Given the description of an element on the screen output the (x, y) to click on. 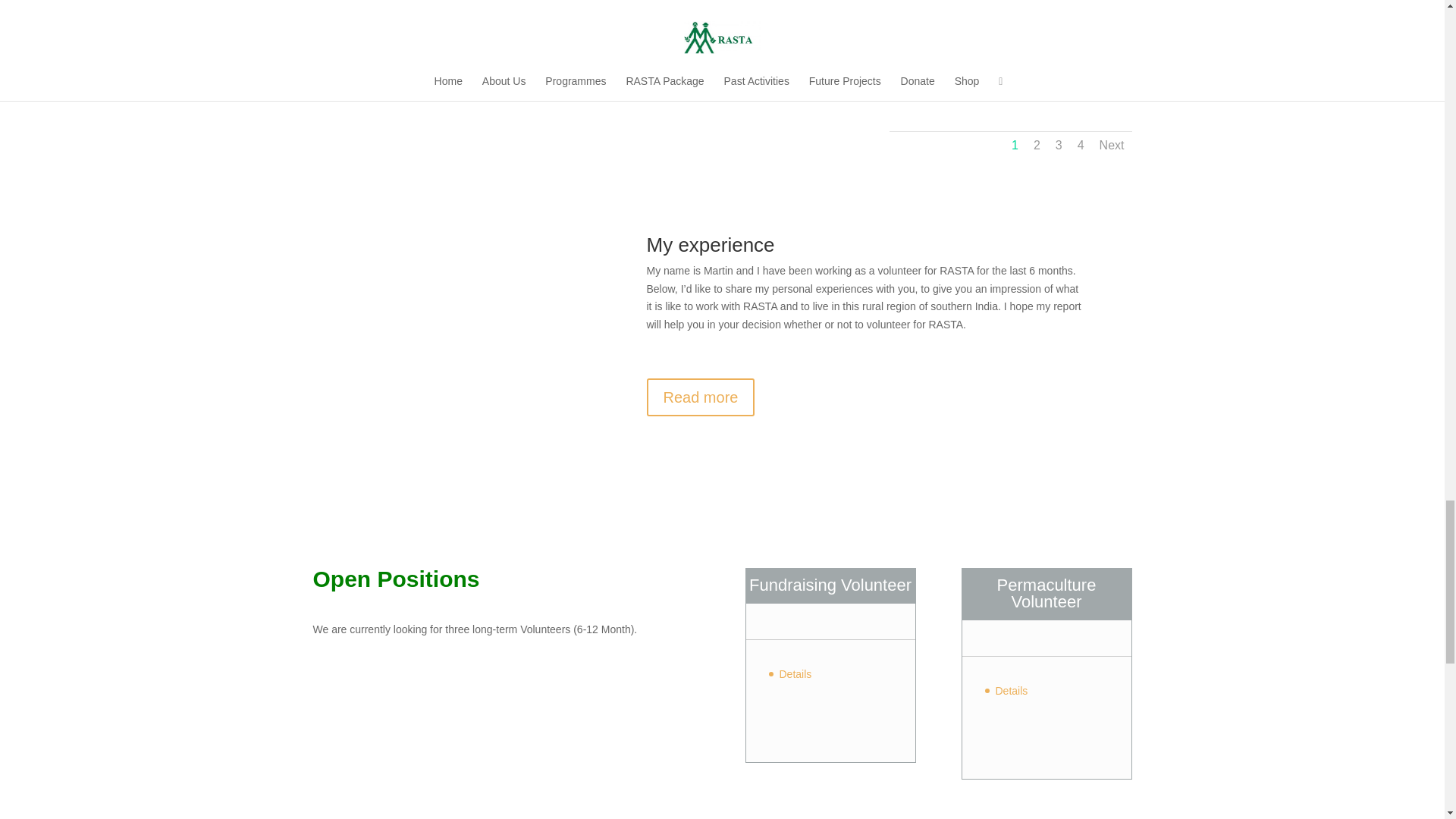
317694DSCN1248 (1016, 87)
